Given the description of an element on the screen output the (x, y) to click on. 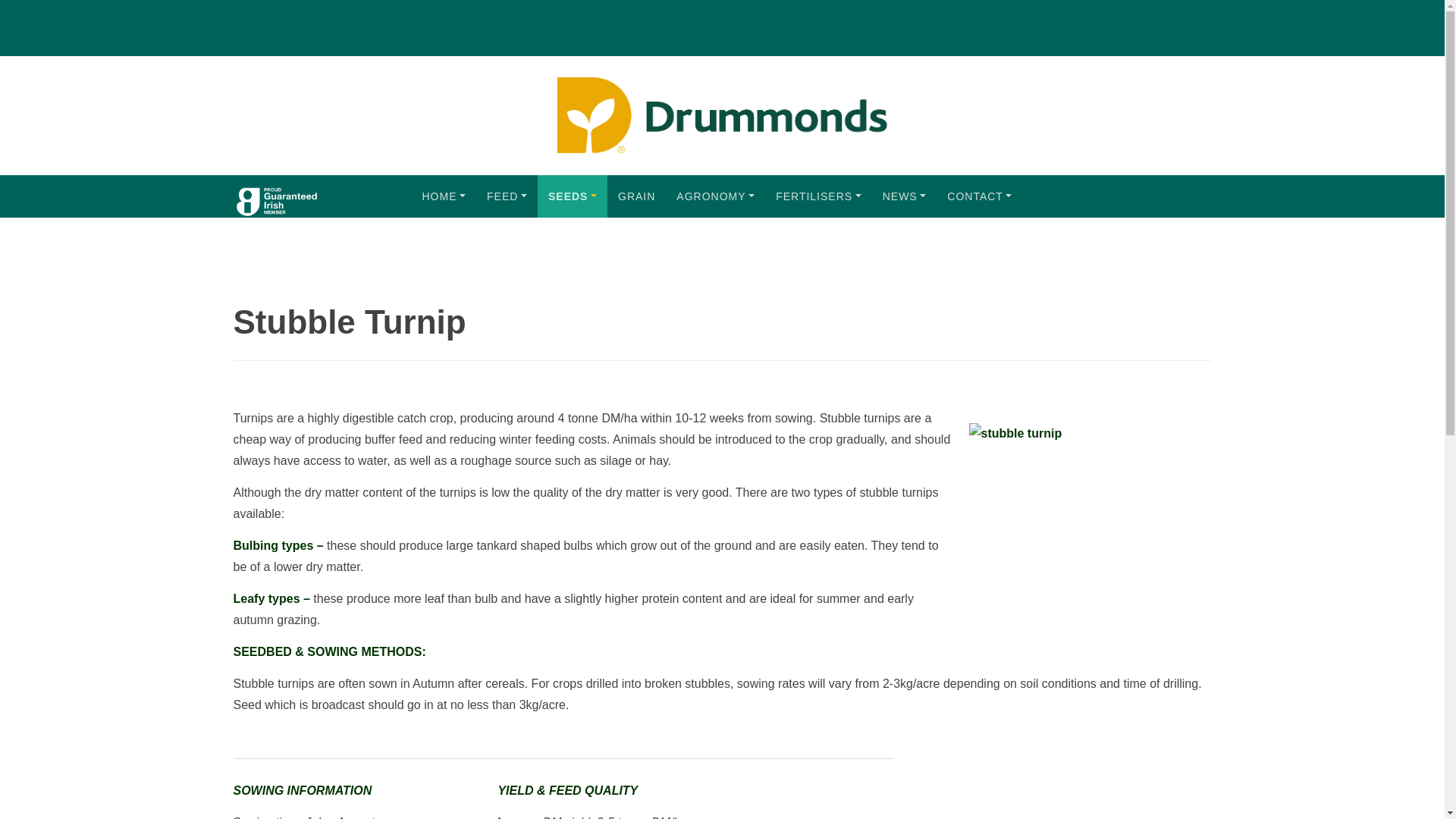
FERTILISERS (818, 196)
SEEDS (572, 196)
HOME (443, 196)
FEED (506, 196)
DRUMMONDS (276, 196)
GRAIN (636, 196)
CONTACT (979, 196)
NEWS (904, 196)
AGRONOMY (715, 196)
